Given the description of an element on the screen output the (x, y) to click on. 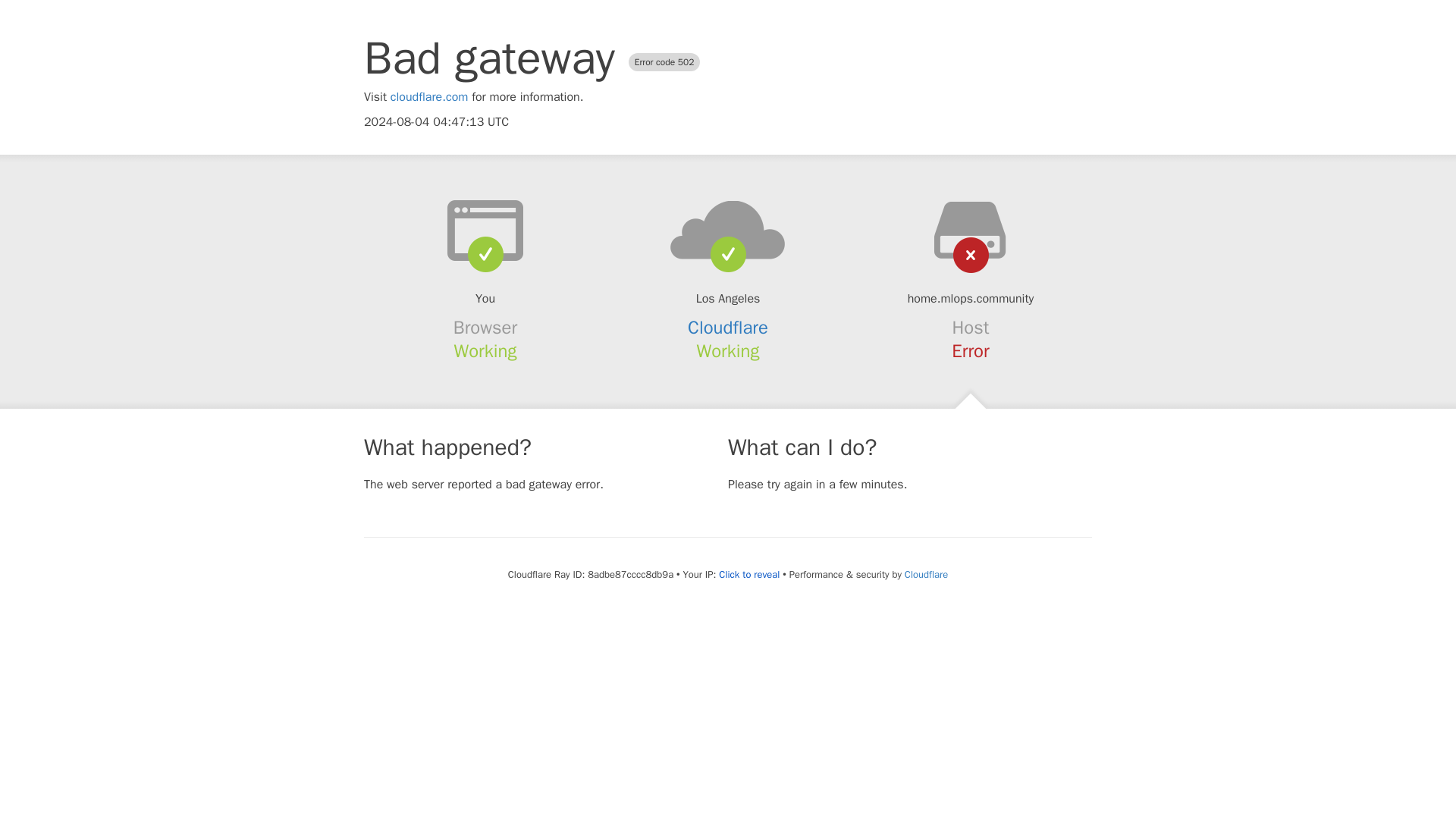
Cloudflare (727, 327)
Cloudflare (925, 574)
Click to reveal (748, 574)
cloudflare.com (429, 96)
